Given the description of an element on the screen output the (x, y) to click on. 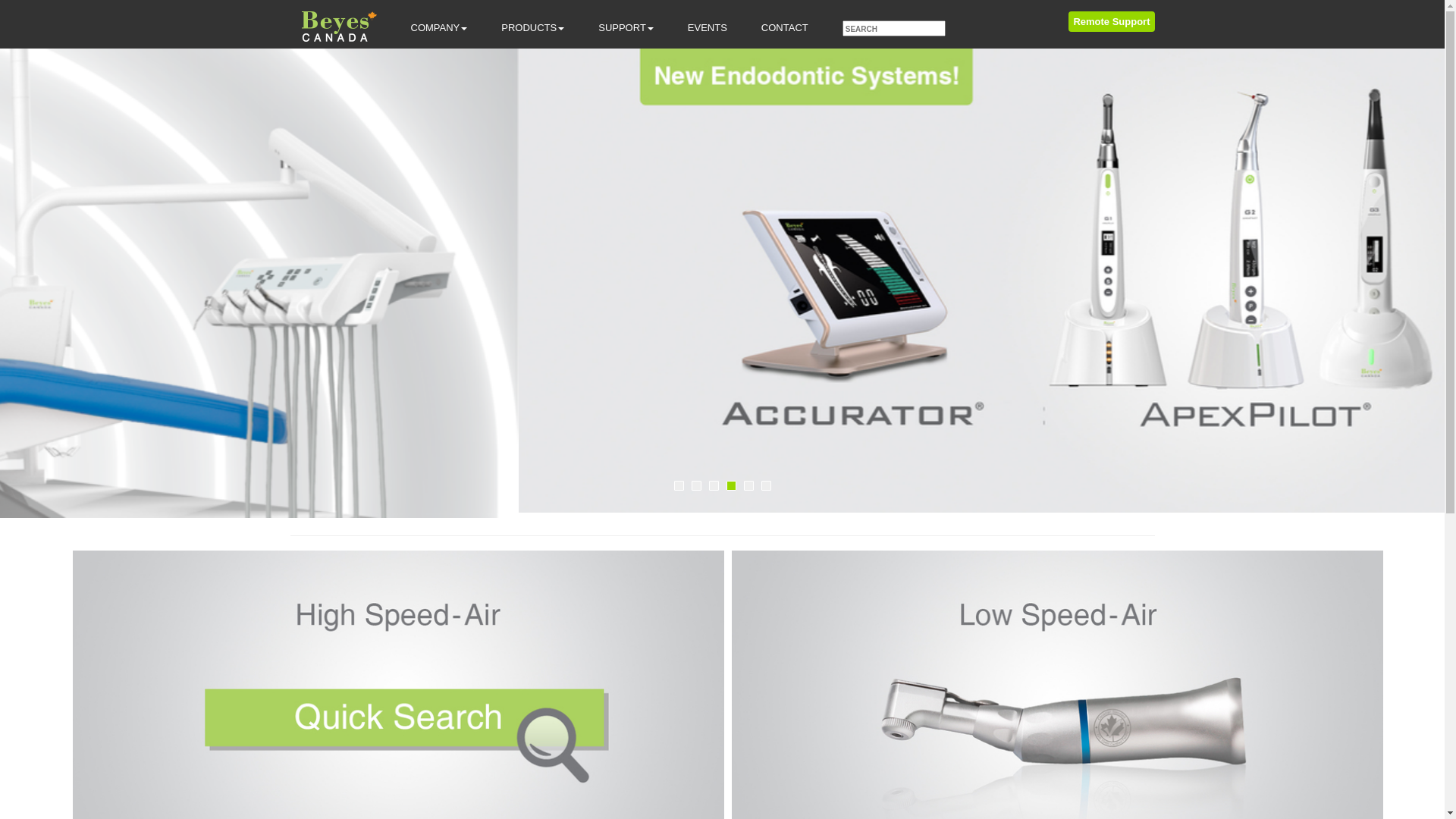
Remote Support Element type: text (1111, 21)
SUPPORT Element type: text (625, 27)
EVENTS Element type: text (707, 27)
COMPANY Element type: text (438, 27)
PRODUCTS Element type: text (532, 27)
CONTACT Element type: text (784, 27)
